Given the description of an element on the screen output the (x, y) to click on. 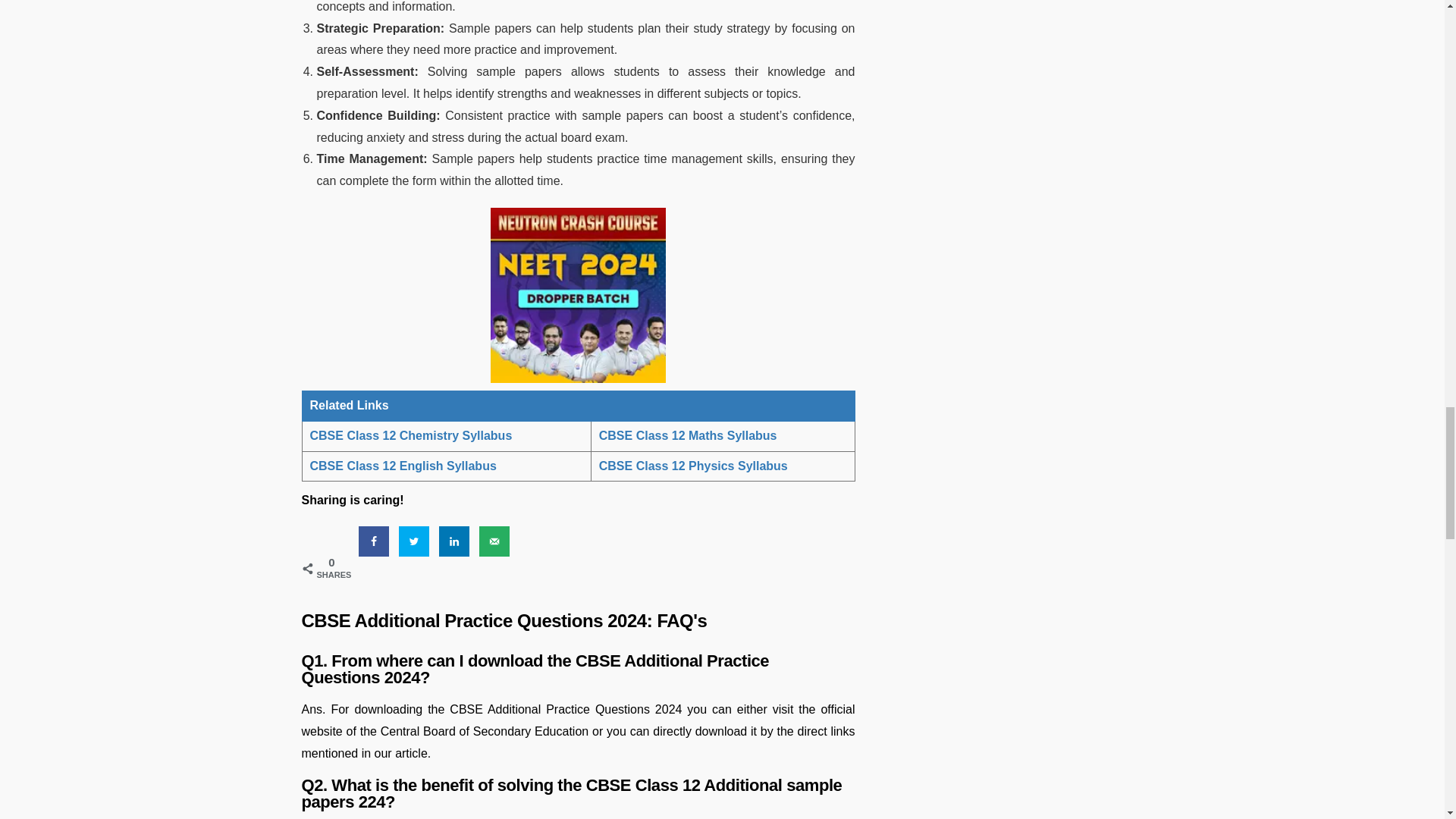
Share on Twitter (413, 541)
CBSE Class 12 Chemistry Syllabus (410, 435)
Share on LinkedIn (453, 541)
CBSE Class 12 Maths Syllabus  (689, 435)
CBSE Class 12 Physics Syllabus (692, 465)
Send over email (494, 541)
Share on Facebook (373, 541)
CBSE Class 12 English Syllabus  (403, 465)
